Given the description of an element on the screen output the (x, y) to click on. 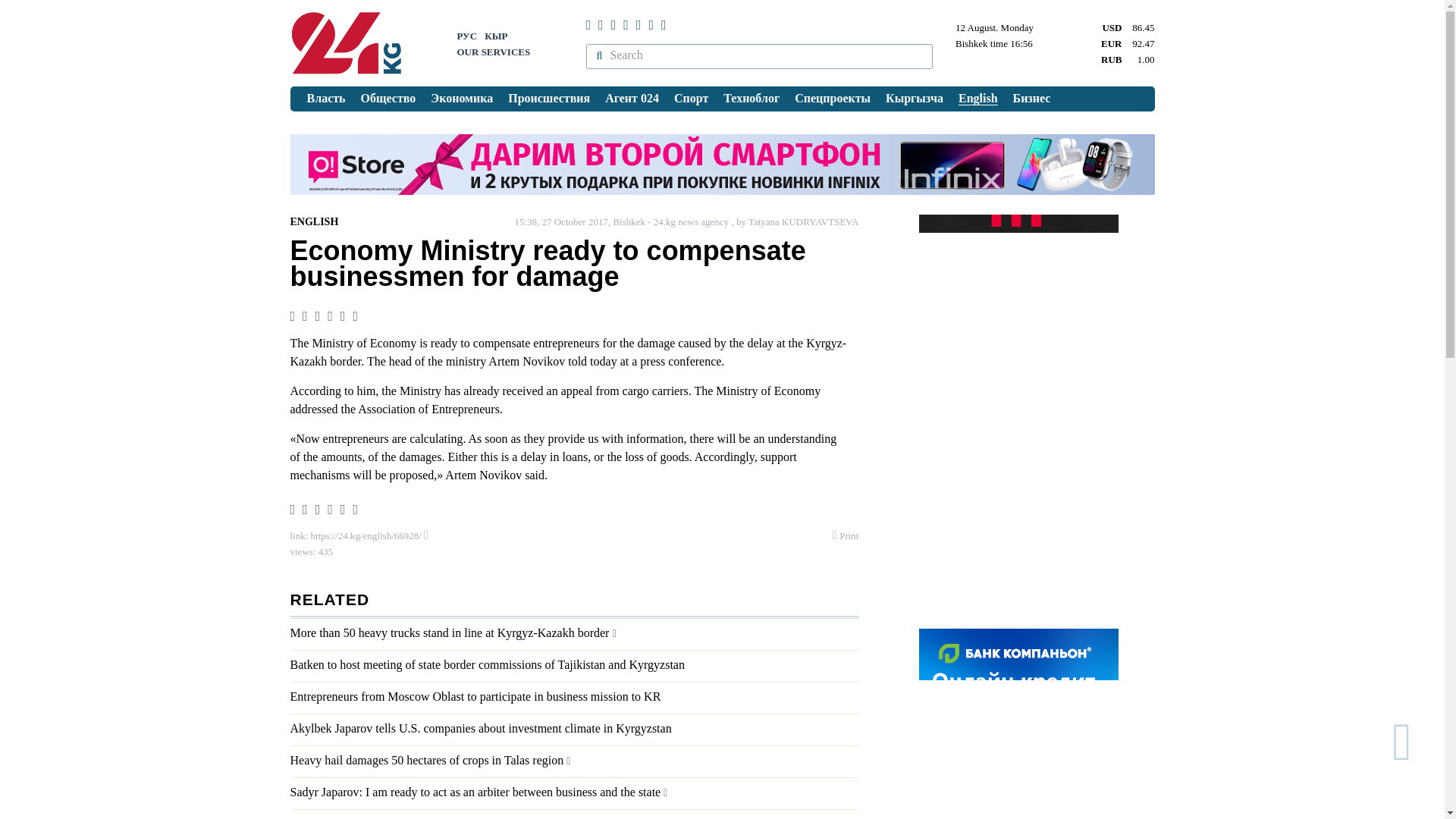
ENGLISH (313, 221)
OUR SERVICES (493, 51)
English (978, 98)
